Given the description of an element on the screen output the (x, y) to click on. 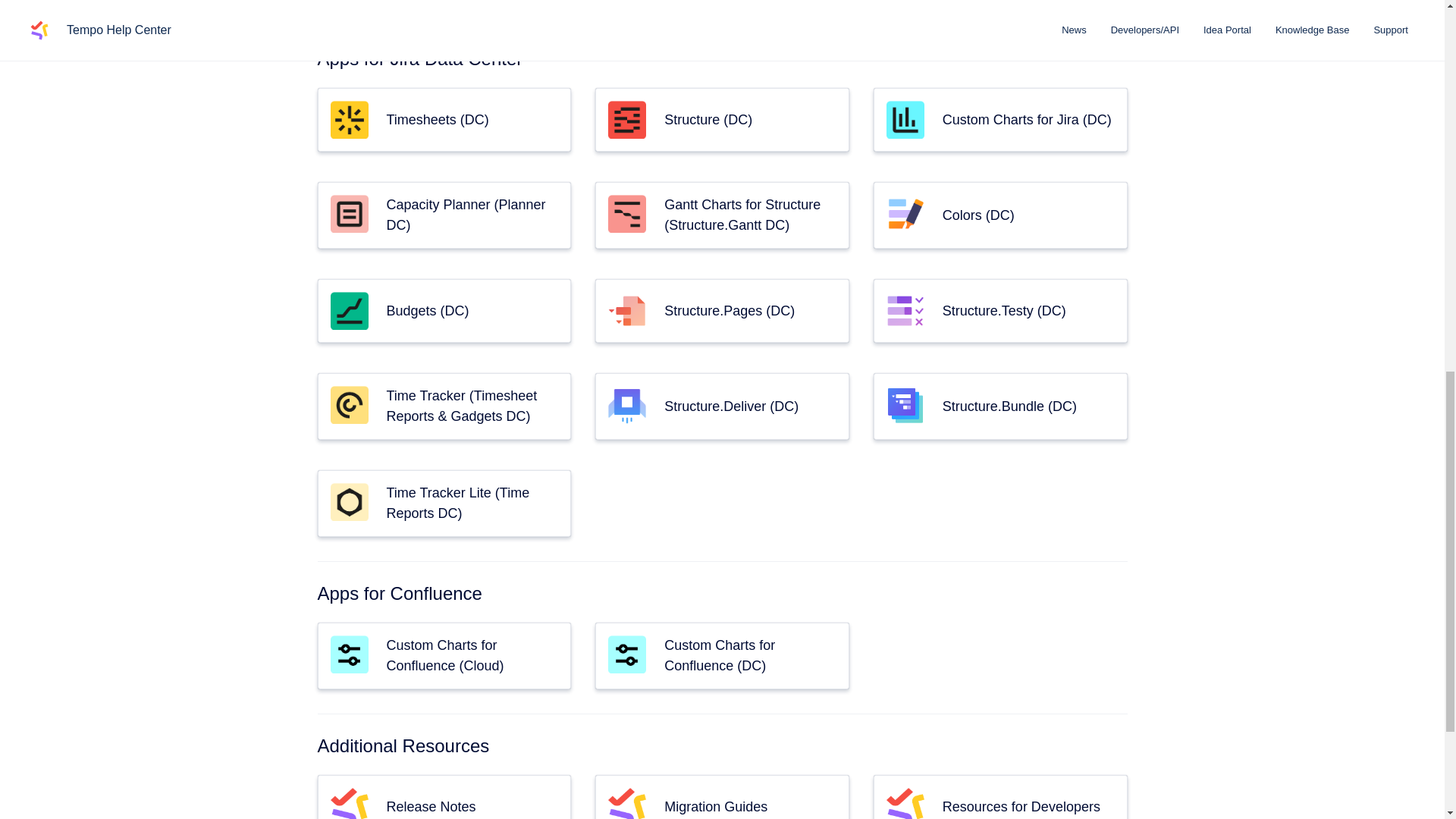
Release Notes (431, 806)
